Given the description of an element on the screen output the (x, y) to click on. 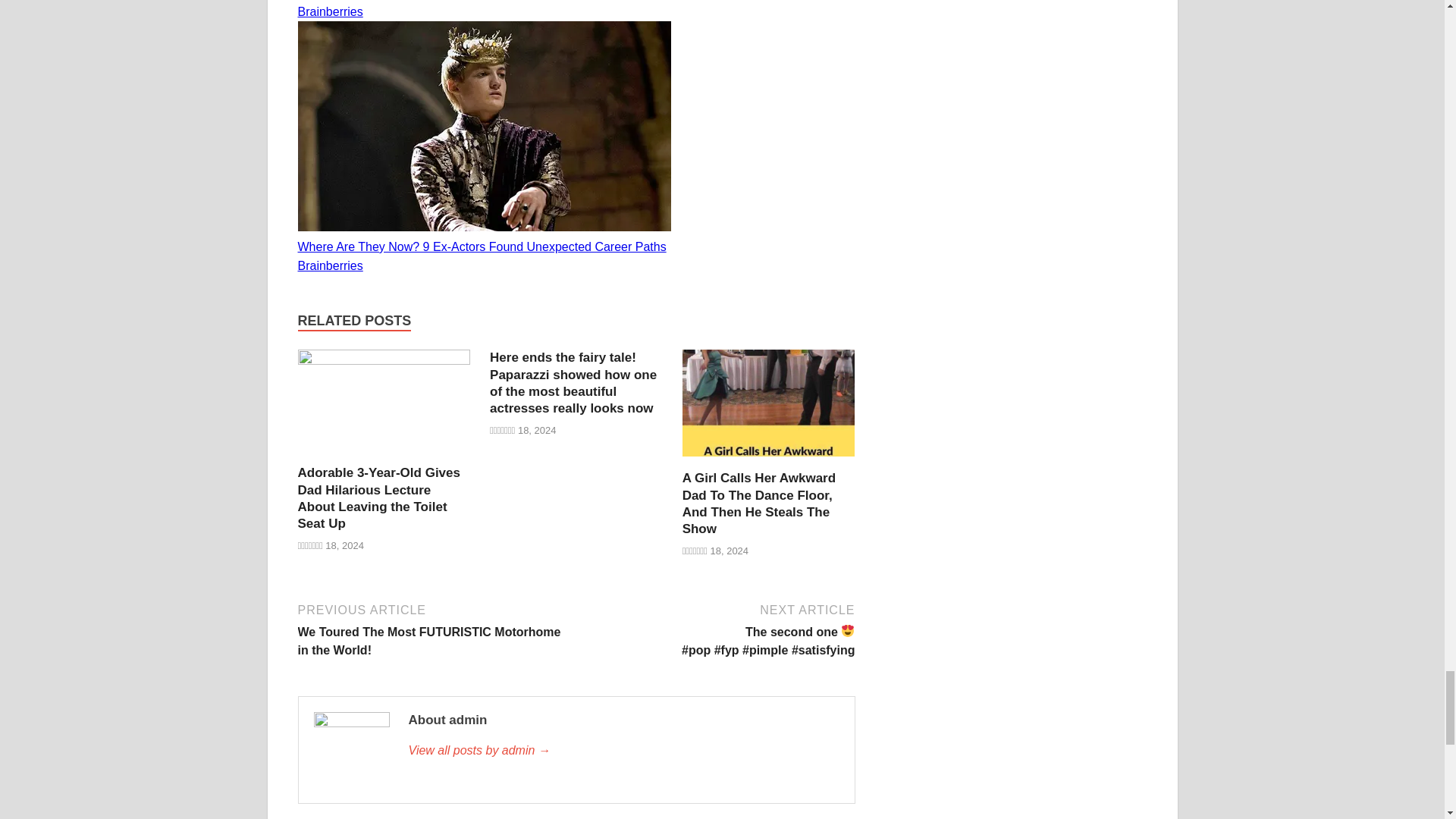
admin (622, 751)
